Given the description of an element on the screen output the (x, y) to click on. 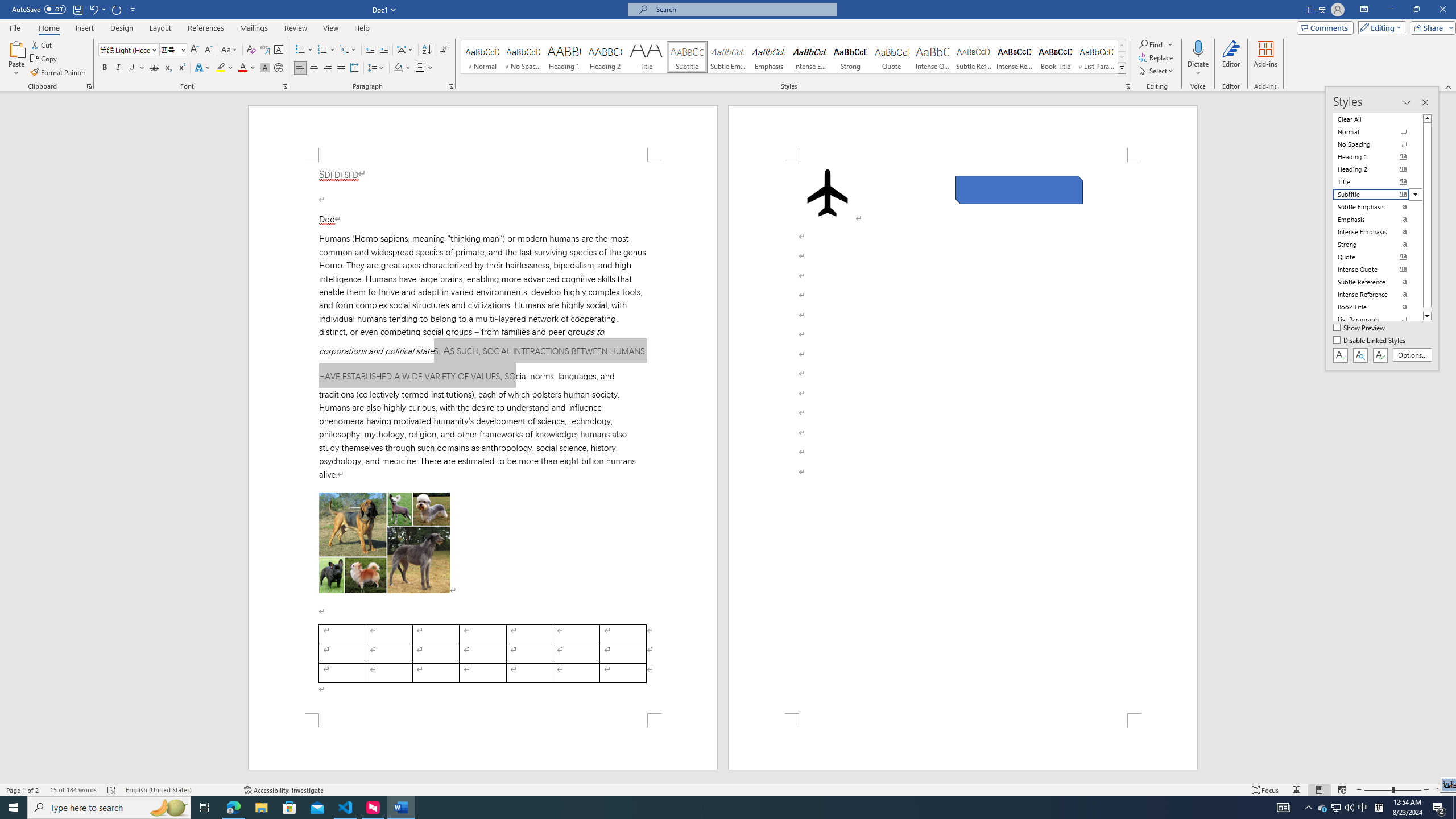
Zoom Out (1377, 790)
Increase Indent (383, 49)
Book Title (1055, 56)
Distributed (354, 67)
Read Mode (1296, 790)
Repeat Style (117, 9)
Find (1155, 44)
Share (1430, 27)
Clear Formatting (250, 49)
Strong (849, 56)
Disable Linked Styles (1370, 340)
Page Number Page 1 of 2 (22, 790)
Intense Emphasis (809, 56)
References (205, 28)
Quick Access Toolbar (74, 9)
